Given the description of an element on the screen output the (x, y) to click on. 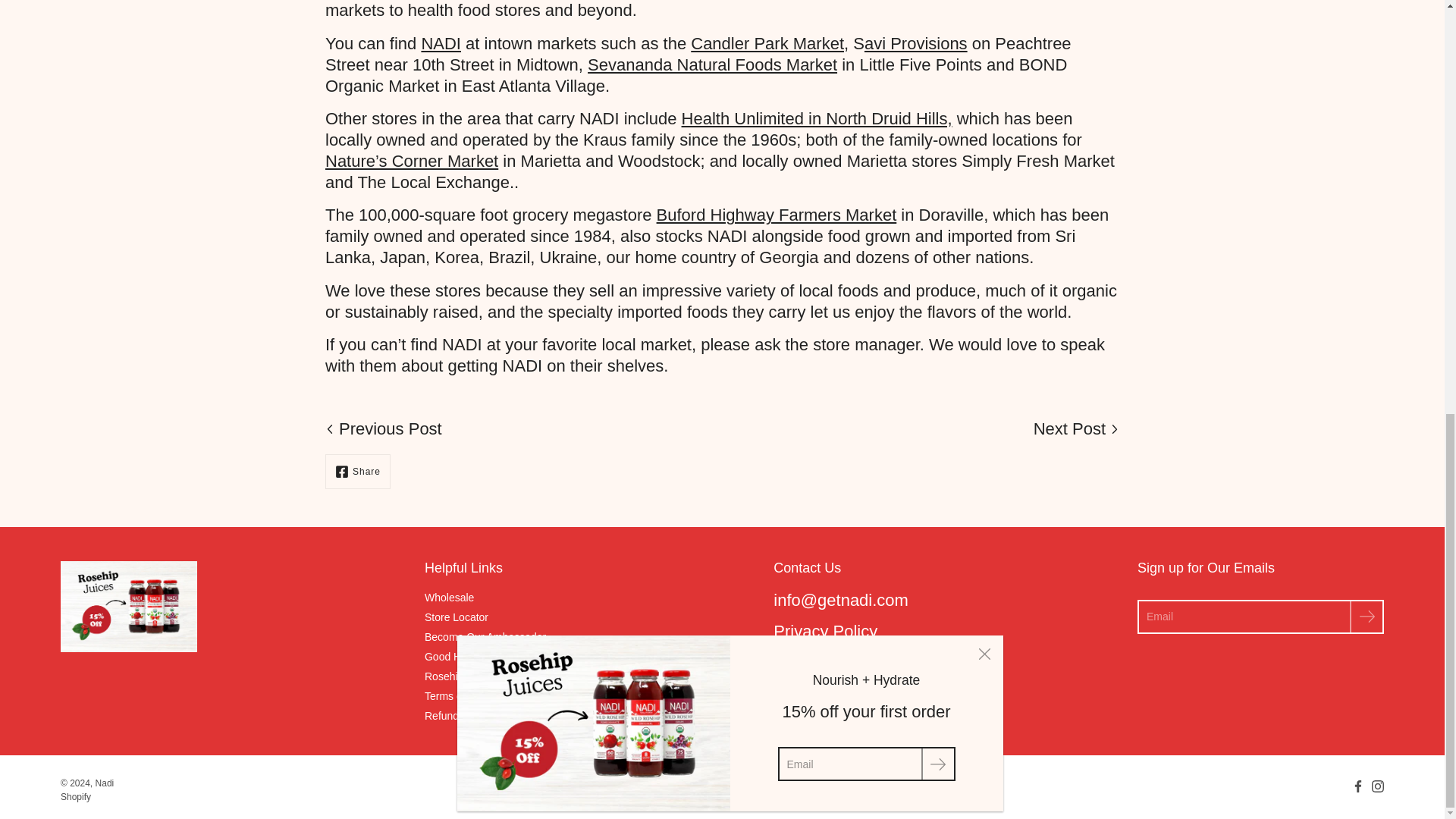
NADI (440, 43)
Health Unlimited in North Druid Hills, (816, 117)
Candler Park Market (767, 43)
Sevananda Natural Foods Market (712, 64)
avi Provisions (916, 43)
Privacy Policy (825, 630)
Buford Highway Farmers Market (776, 214)
Share (357, 471)
Previous Post (383, 428)
Next Post (1076, 428)
